Given the description of an element on the screen output the (x, y) to click on. 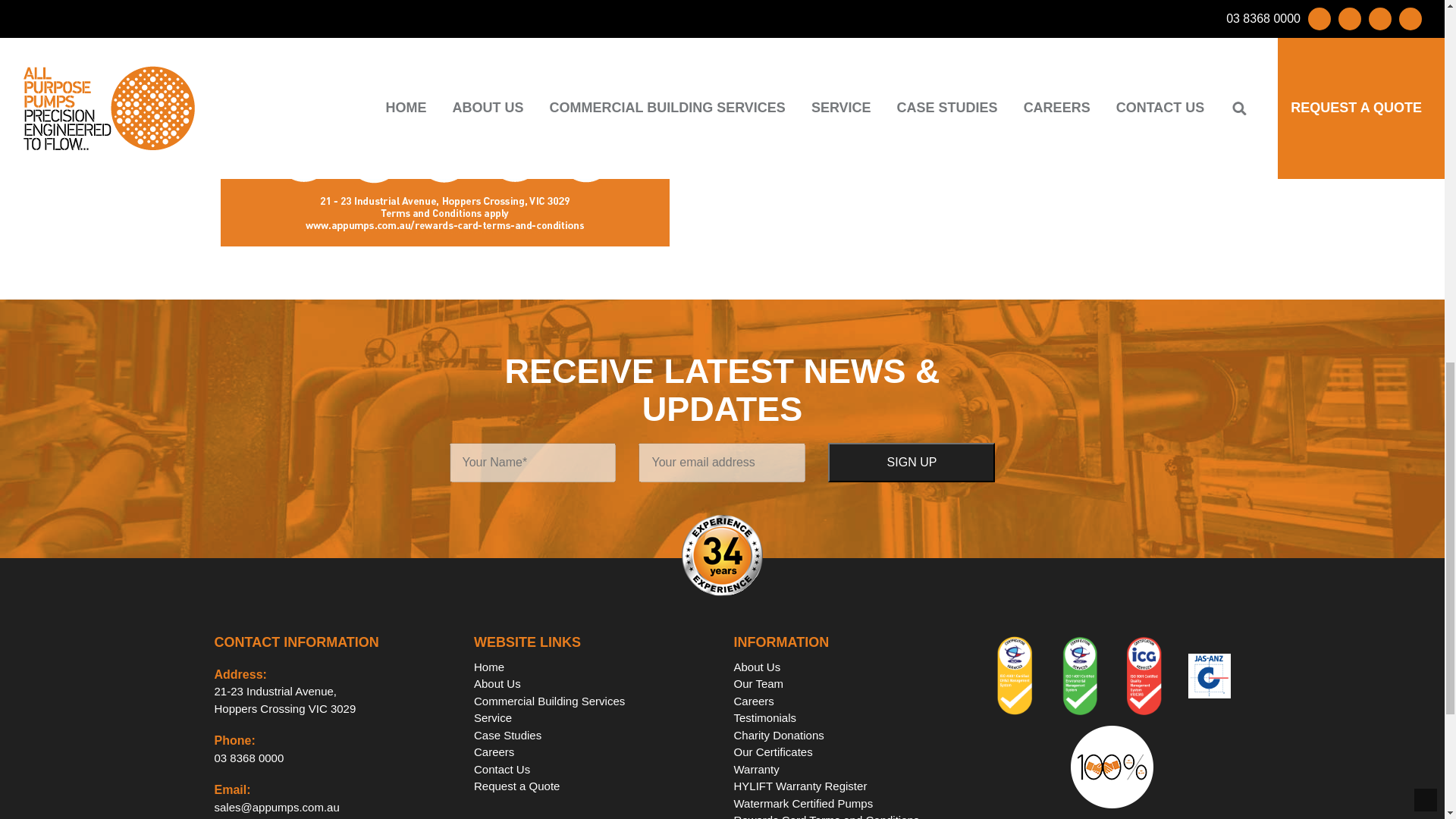
03 8368 0000 (284, 699)
Sign up (248, 757)
Home (911, 462)
Service (488, 666)
Sign up (493, 717)
Commercial Building Services (911, 462)
Case Studies (549, 700)
About Us (507, 735)
